Given the description of an element on the screen output the (x, y) to click on. 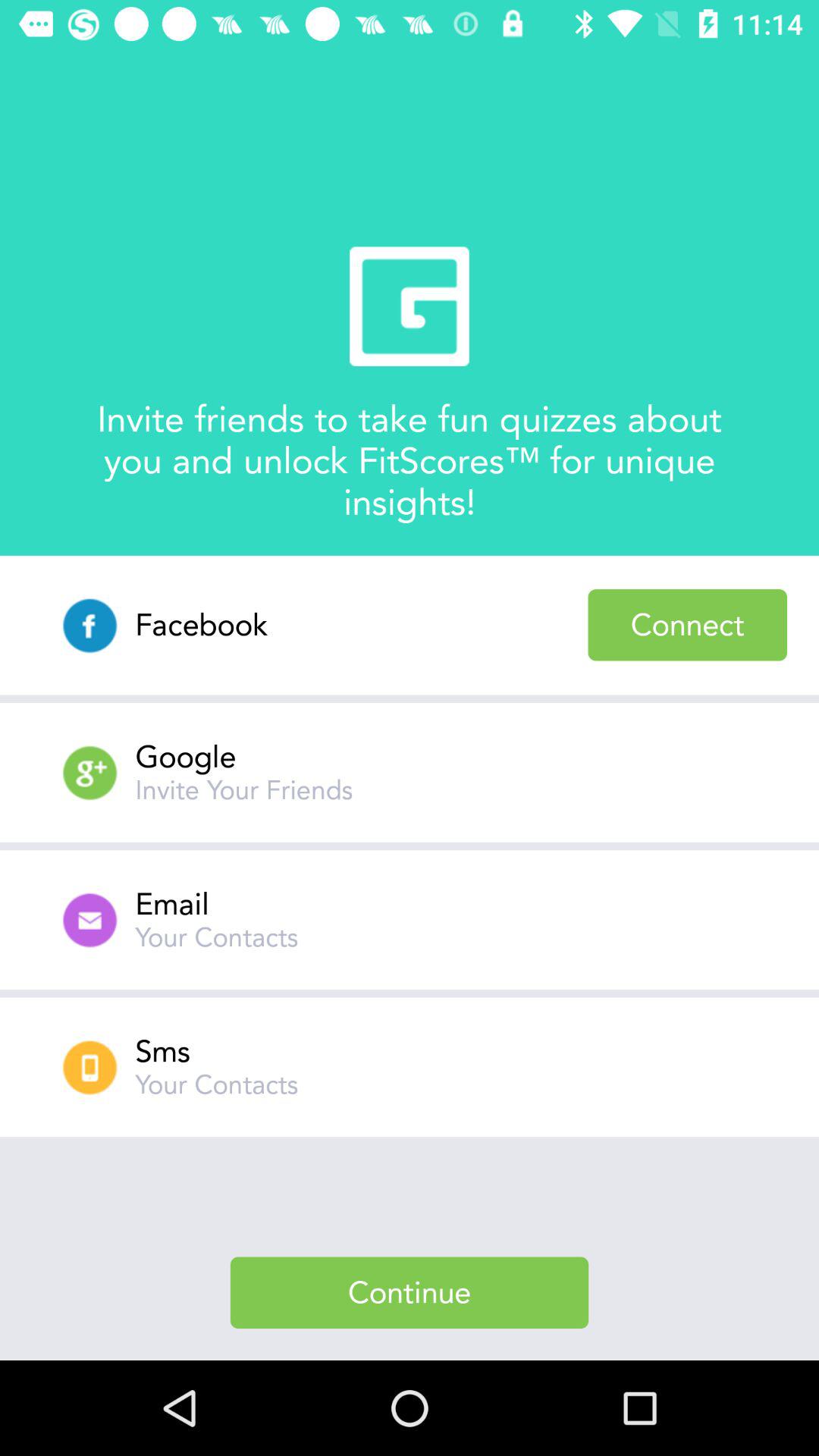
tap the item next to facebook item (687, 624)
